Given the description of an element on the screen output the (x, y) to click on. 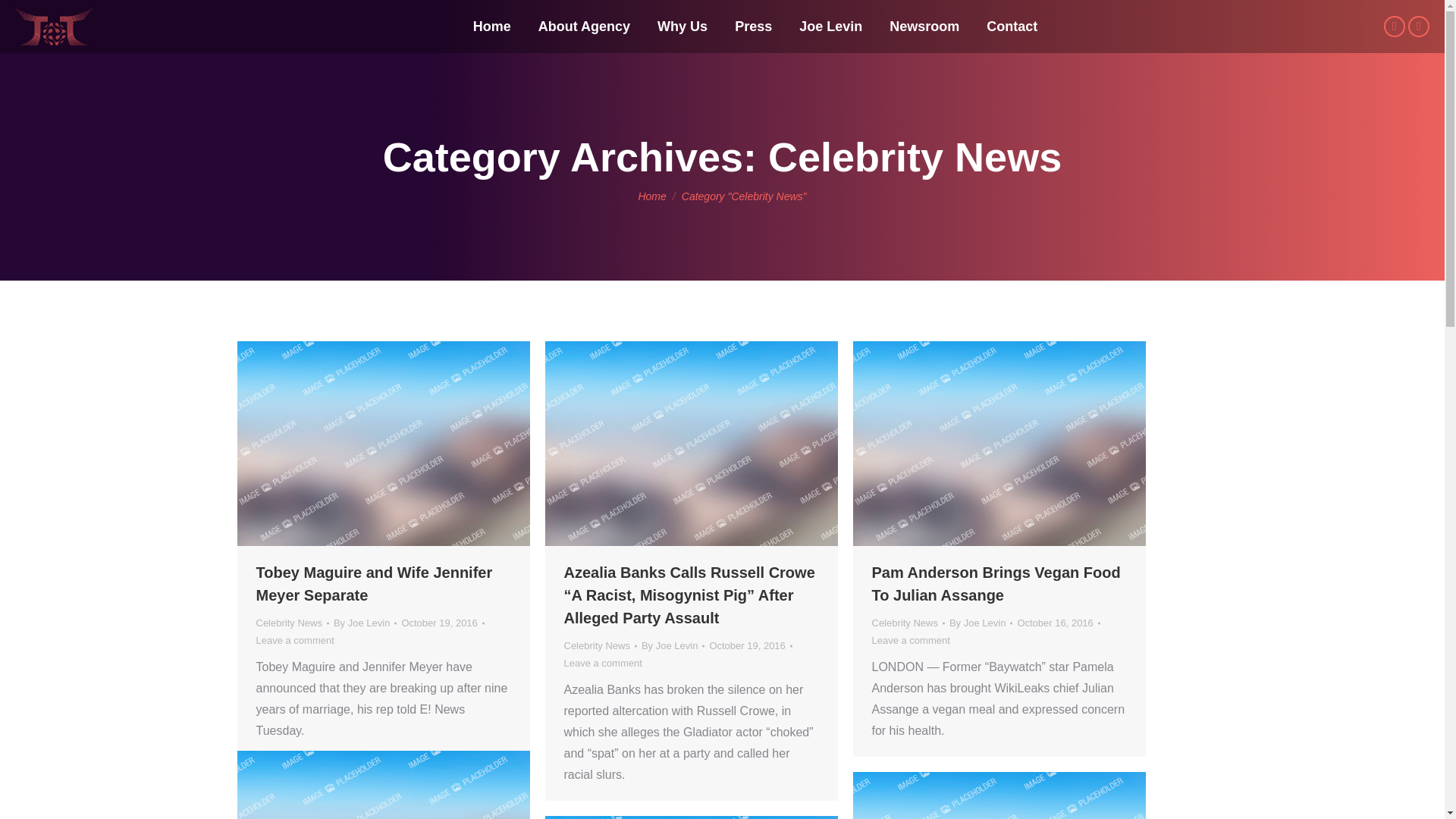
By Joe Levin (673, 645)
Celebrity News (288, 622)
About Agency (584, 26)
Press (753, 26)
October 19, 2016 (750, 645)
Home (491, 26)
Joe Levin (830, 26)
View all posts by Joe Levin (673, 645)
Tobey Maguire and Wife Jennifer Meyer Separate (374, 583)
Twitter page opens in new window (1394, 25)
Leave a comment (603, 662)
Contact (1012, 26)
Celebrity News (597, 645)
October 19, 2016 (442, 622)
8:29 am (442, 622)
